Given the description of an element on the screen output the (x, y) to click on. 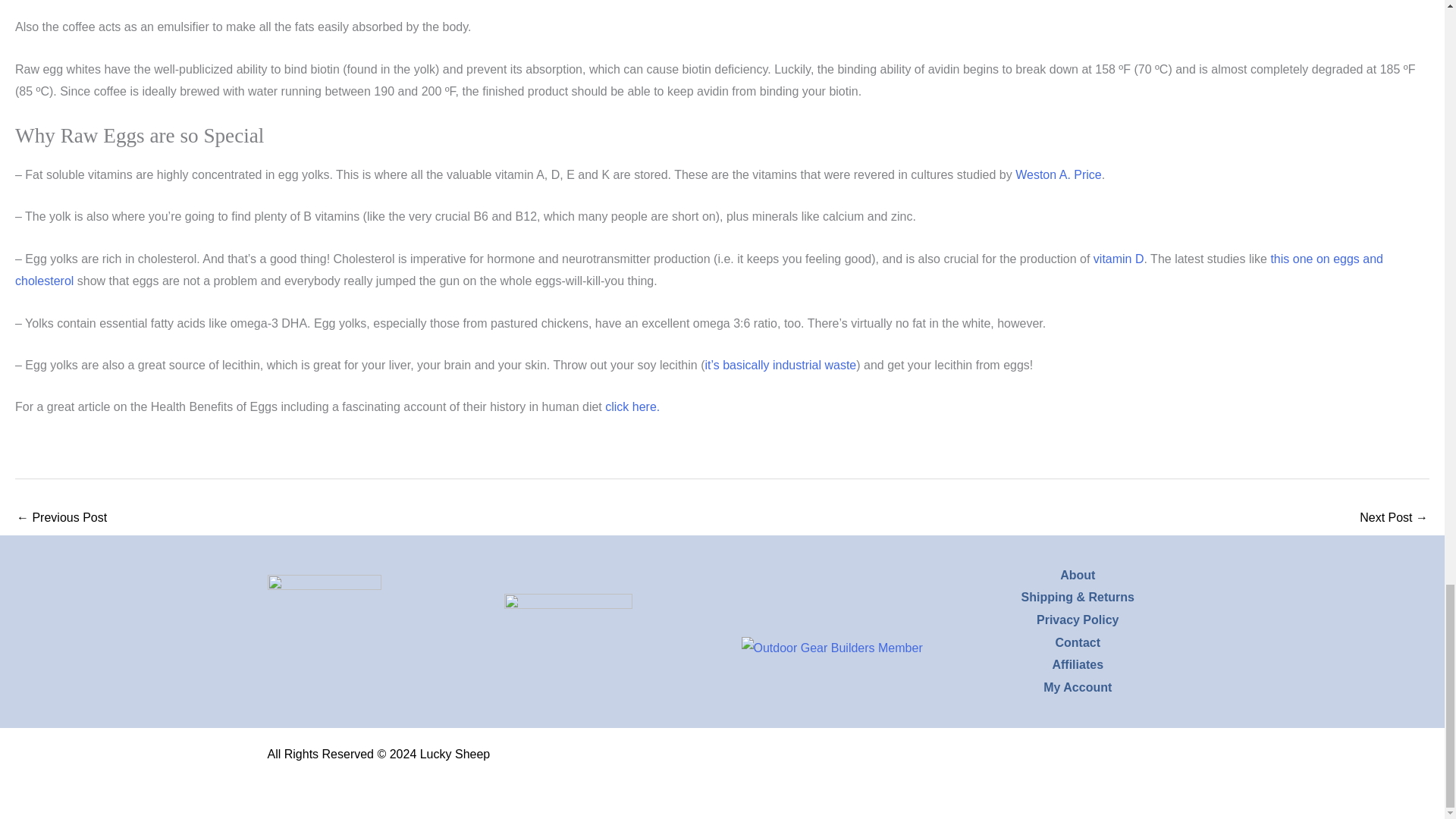
How the Cold Can Keep You Warm (1393, 519)
Kombucha Tea: How I Make It (61, 519)
